Given the description of an element on the screen output the (x, y) to click on. 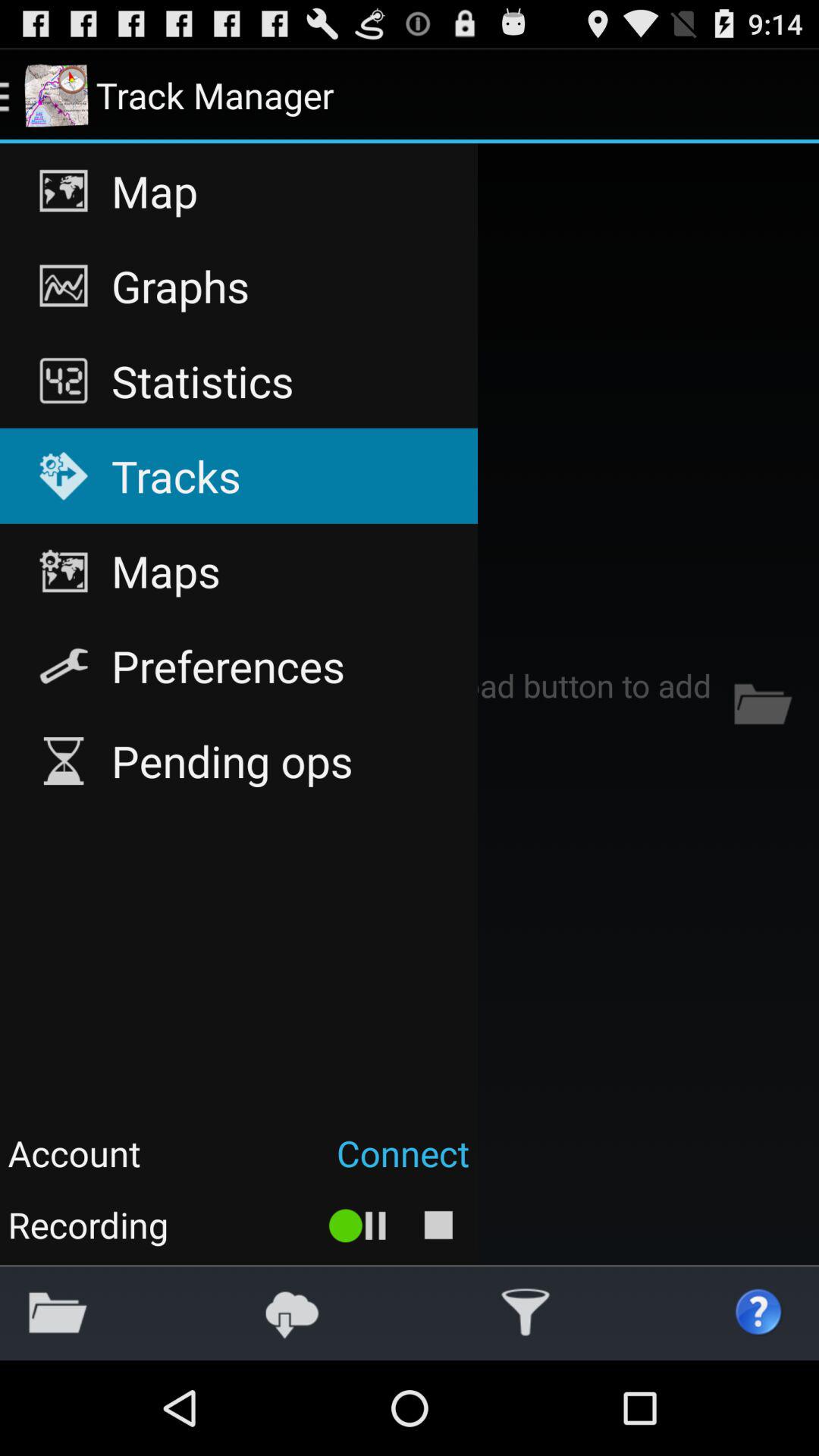
press the app below no tracks loaded (58, 1312)
